Given the description of an element on the screen output the (x, y) to click on. 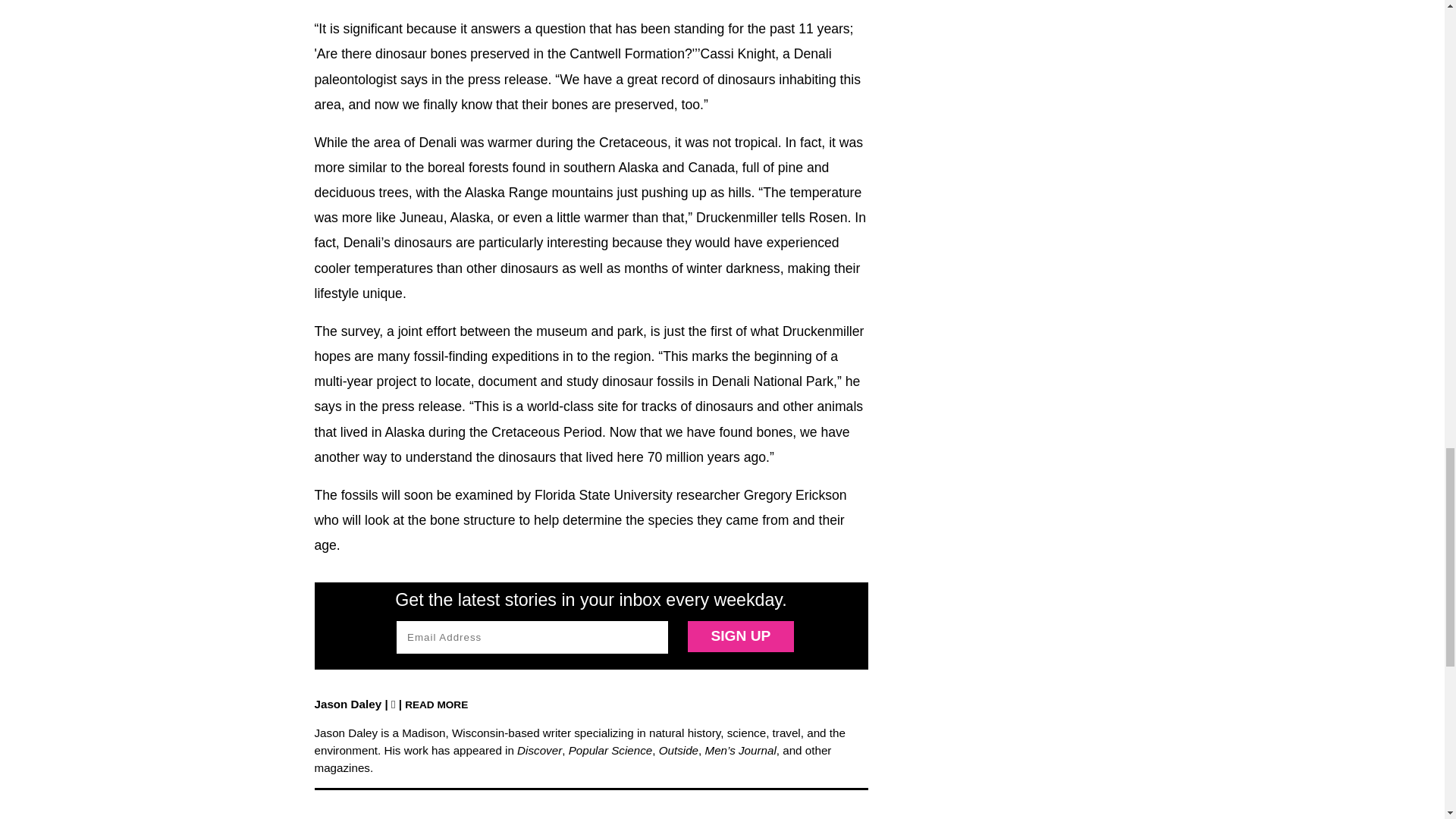
Sign Up (740, 635)
Read more from this author (435, 703)
